Given the description of an element on the screen output the (x, y) to click on. 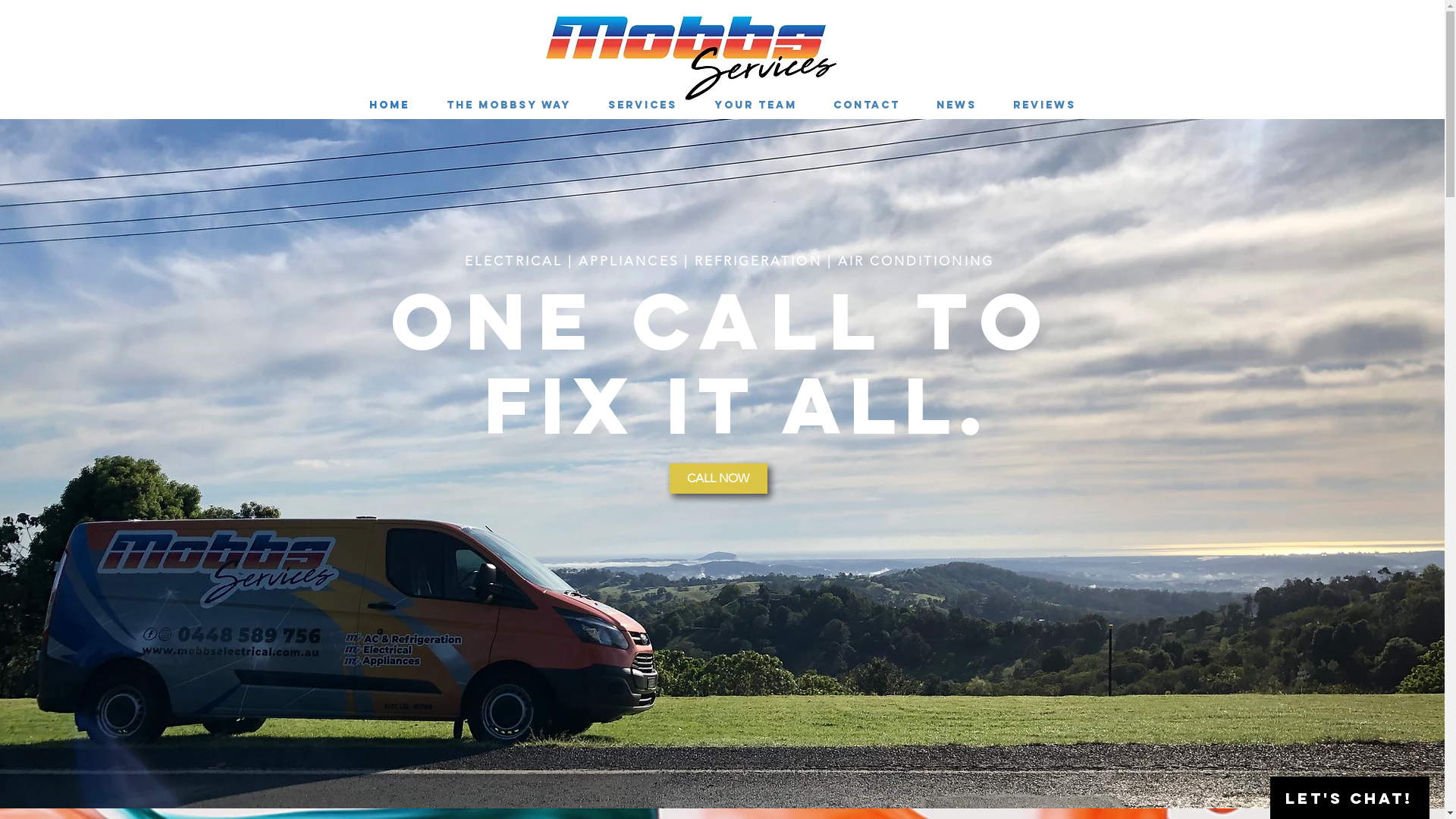
HOME Element type: text (388, 105)
CONTACT Element type: text (865, 105)
THE MOBBSY WAY Element type: text (508, 105)
YOUR TEAM Element type: text (755, 105)
REVIEWS Element type: text (1044, 105)
CALL NOW Element type: text (717, 478)
elongated.jpg Element type: hover (690, 52)
NEWS Element type: text (955, 105)
SERVICES Element type: text (642, 105)
